Given the description of an element on the screen output the (x, y) to click on. 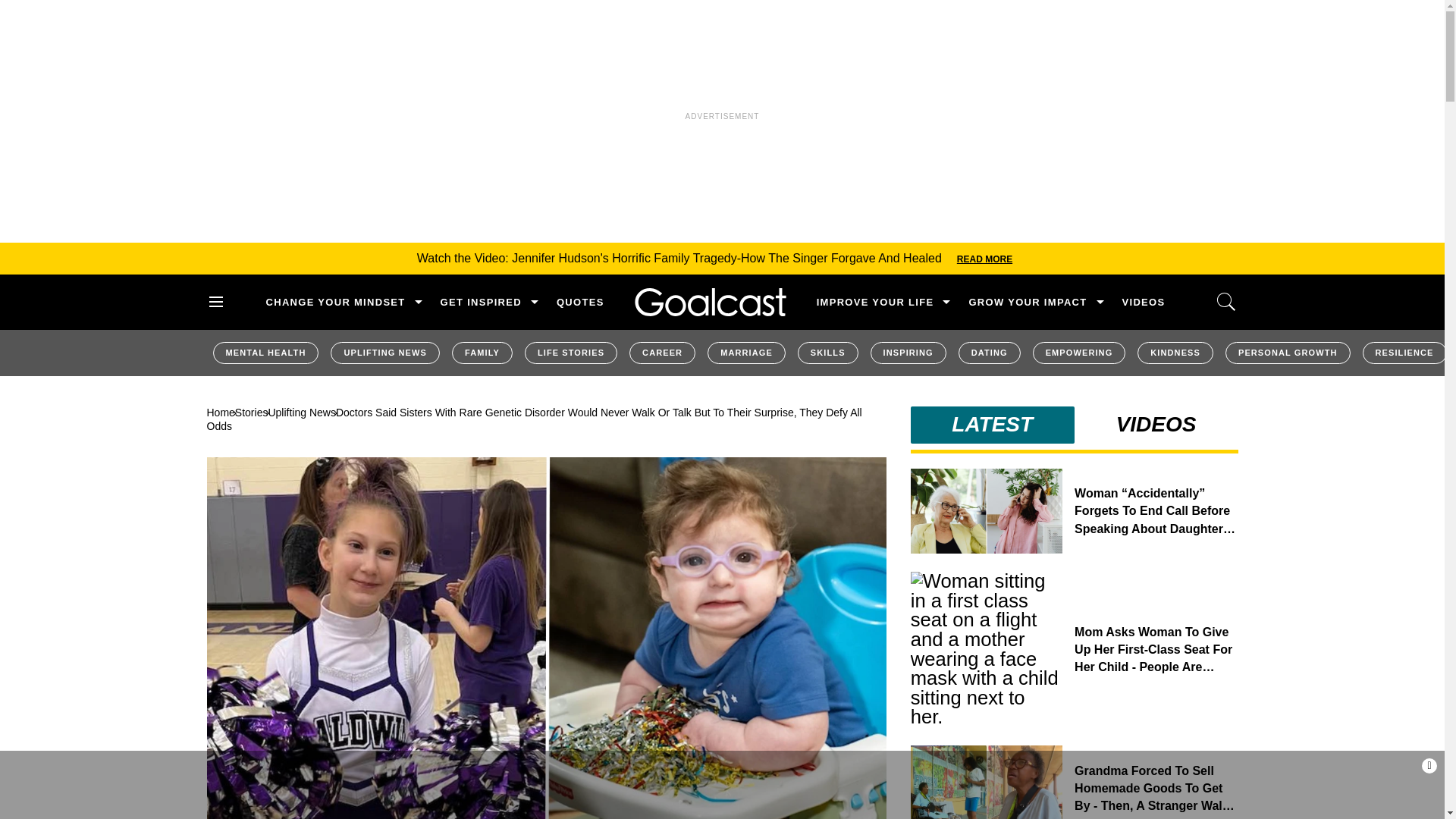
CHANGE YOUR MINDSET (334, 301)
QUOTES (580, 301)
VIDEOS (1144, 301)
GET INSPIRED (481, 301)
GROW YOUR IMPACT (1027, 301)
IMPROVE YOUR LIFE (875, 301)
